Given the description of an element on the screen output the (x, y) to click on. 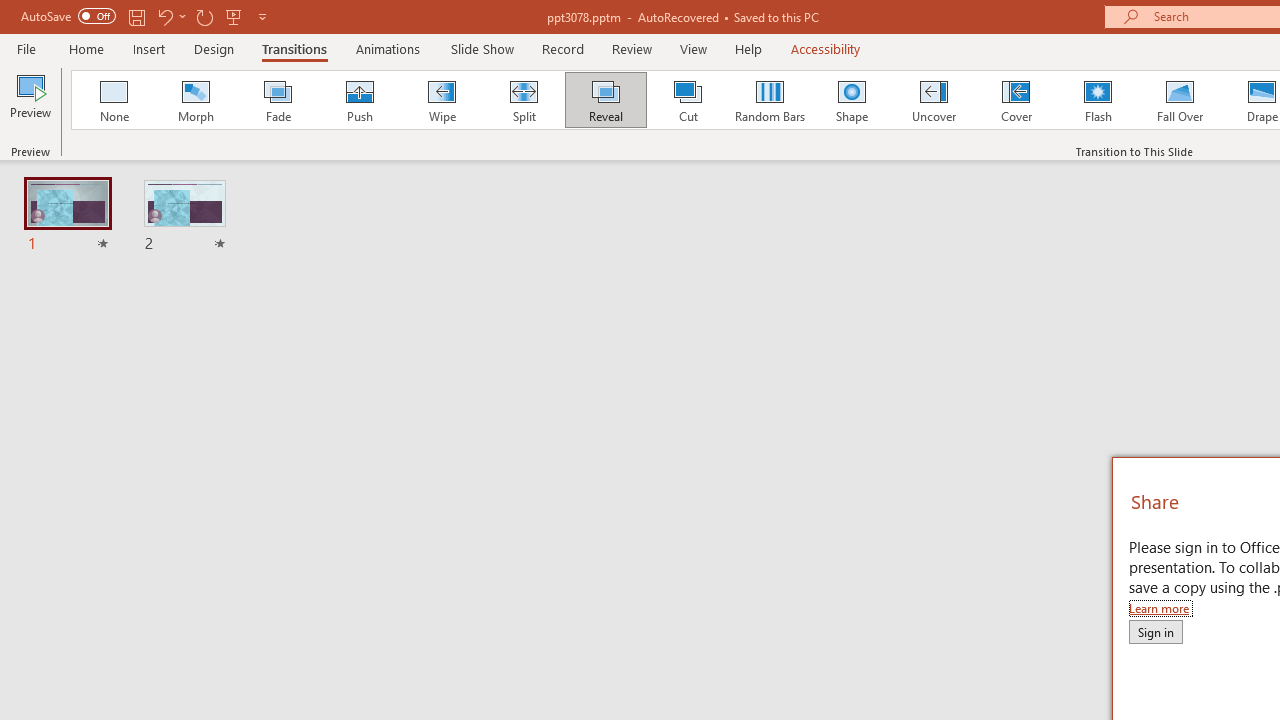
Learn more (1160, 608)
Wipe (441, 100)
Push (359, 100)
Uncover (934, 100)
Split (523, 100)
